Given the description of an element on the screen output the (x, y) to click on. 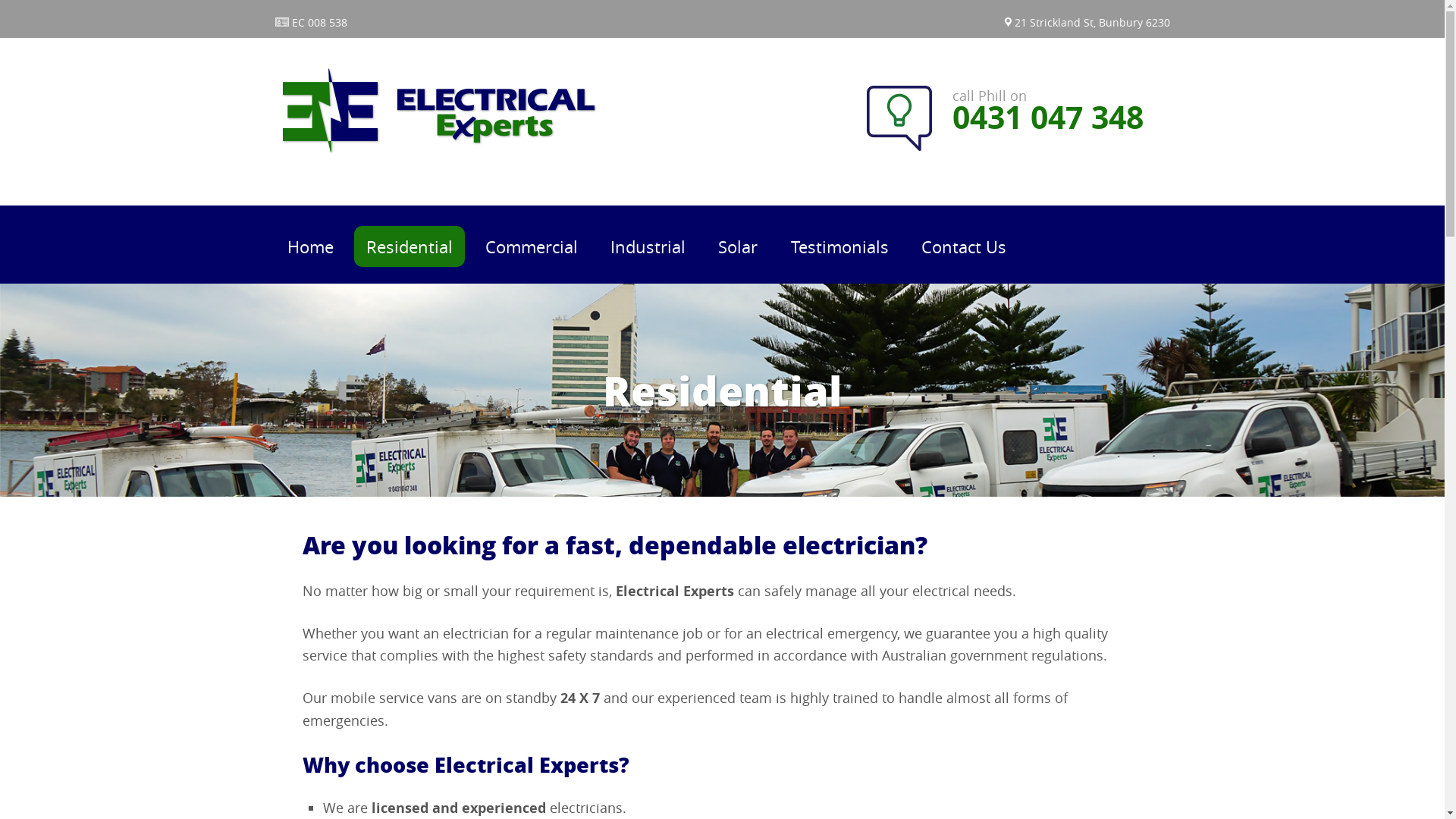
Commercial Element type: text (531, 245)
Home Element type: text (309, 245)
0431 047 348 Element type: text (1047, 115)
Contact Us Element type: text (963, 245)
Residential Element type: text (409, 245)
Industrial Element type: text (647, 245)
Testimonials Element type: text (839, 245)
Solar Element type: text (737, 245)
